Given the description of an element on the screen output the (x, y) to click on. 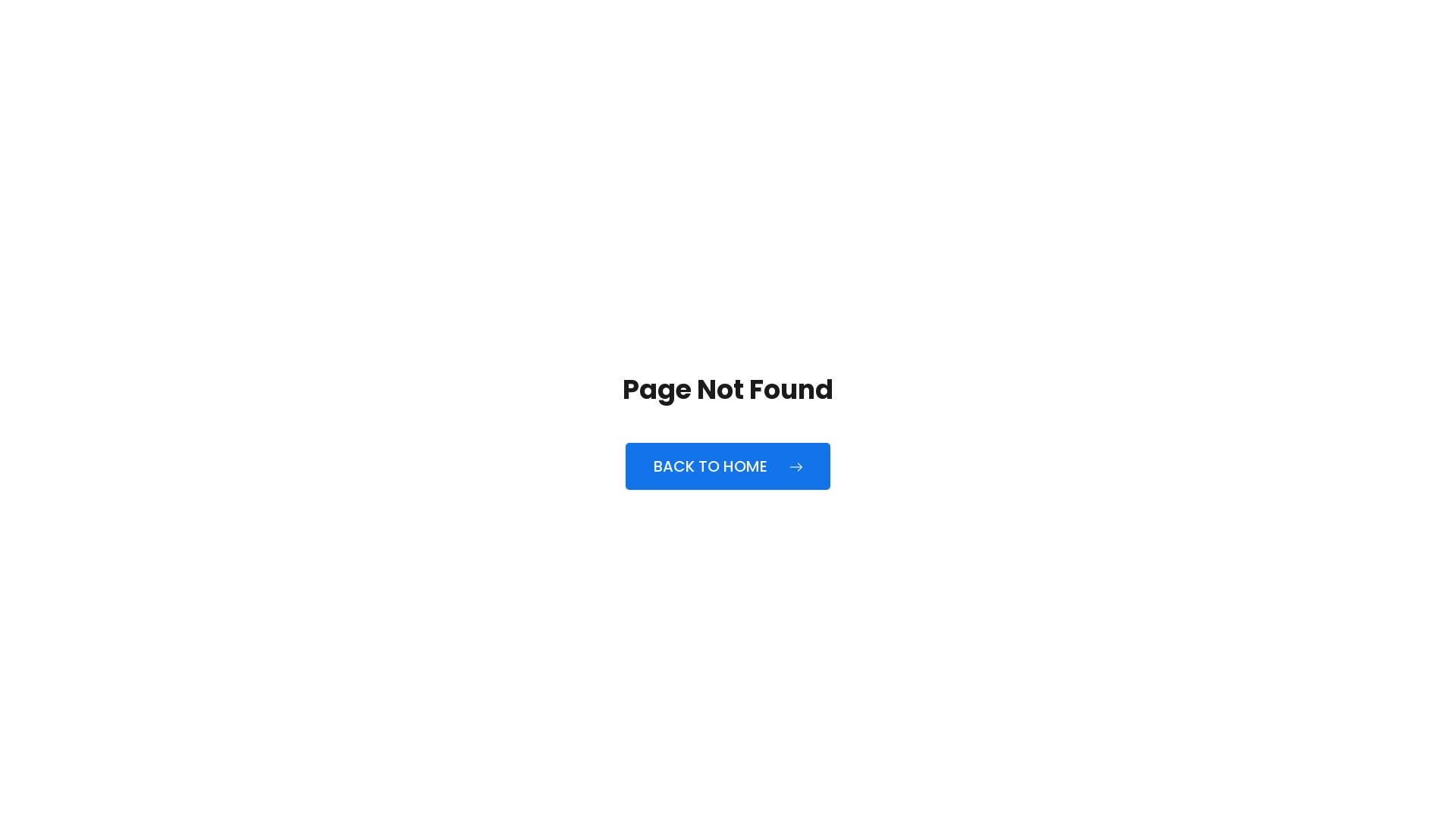
BACK TO HOME Element type: text (727, 465)
